Given the description of an element on the screen output the (x, y) to click on. 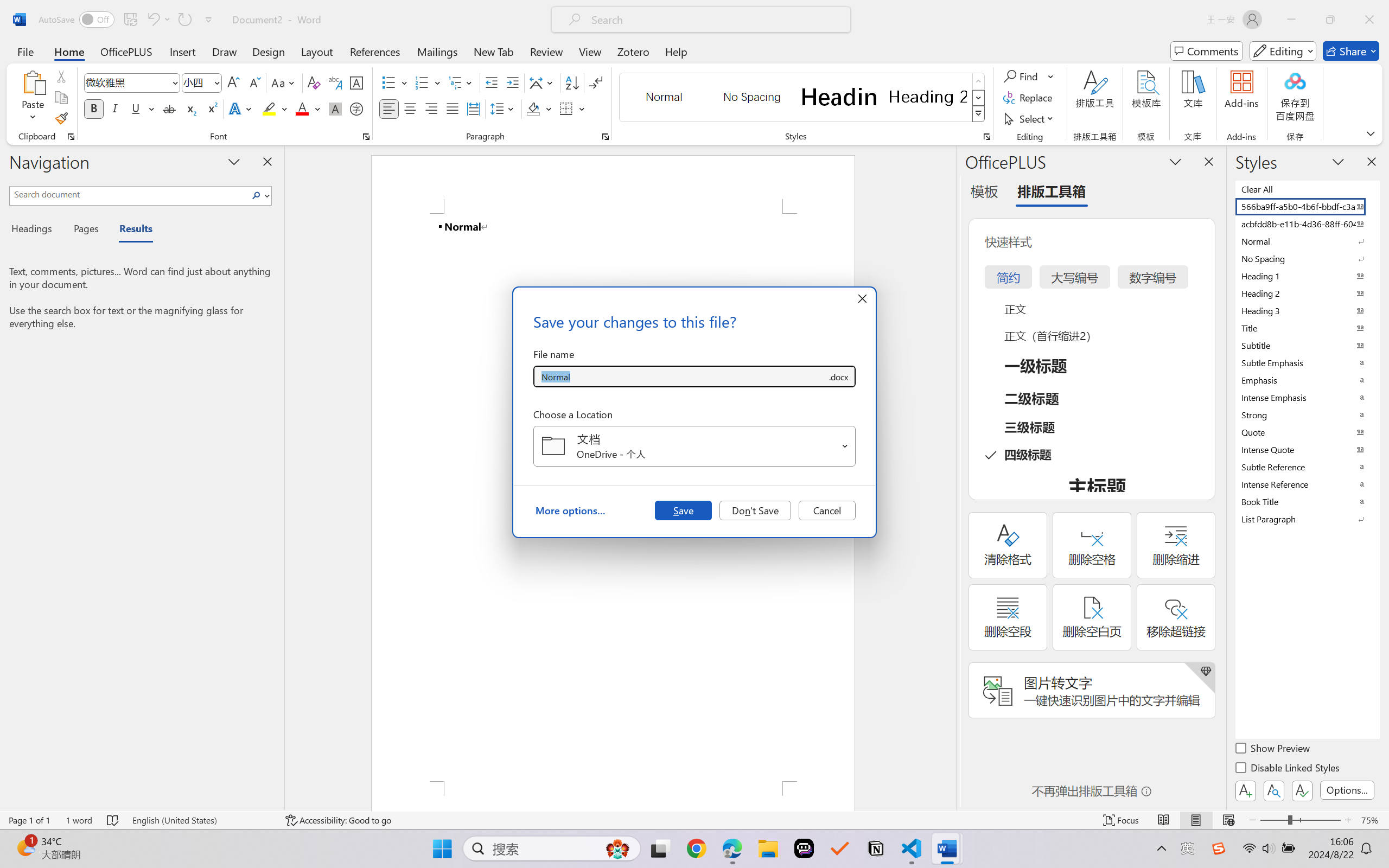
Bullets (395, 82)
References (375, 51)
Insert (182, 51)
Customize Quick Access Toolbar (208, 19)
Pages (85, 229)
Replace... (1029, 97)
Heading 1 (839, 96)
Decrease Indent (491, 82)
Class: Image (1218, 847)
Help (675, 51)
